Given the description of an element on the screen output the (x, y) to click on. 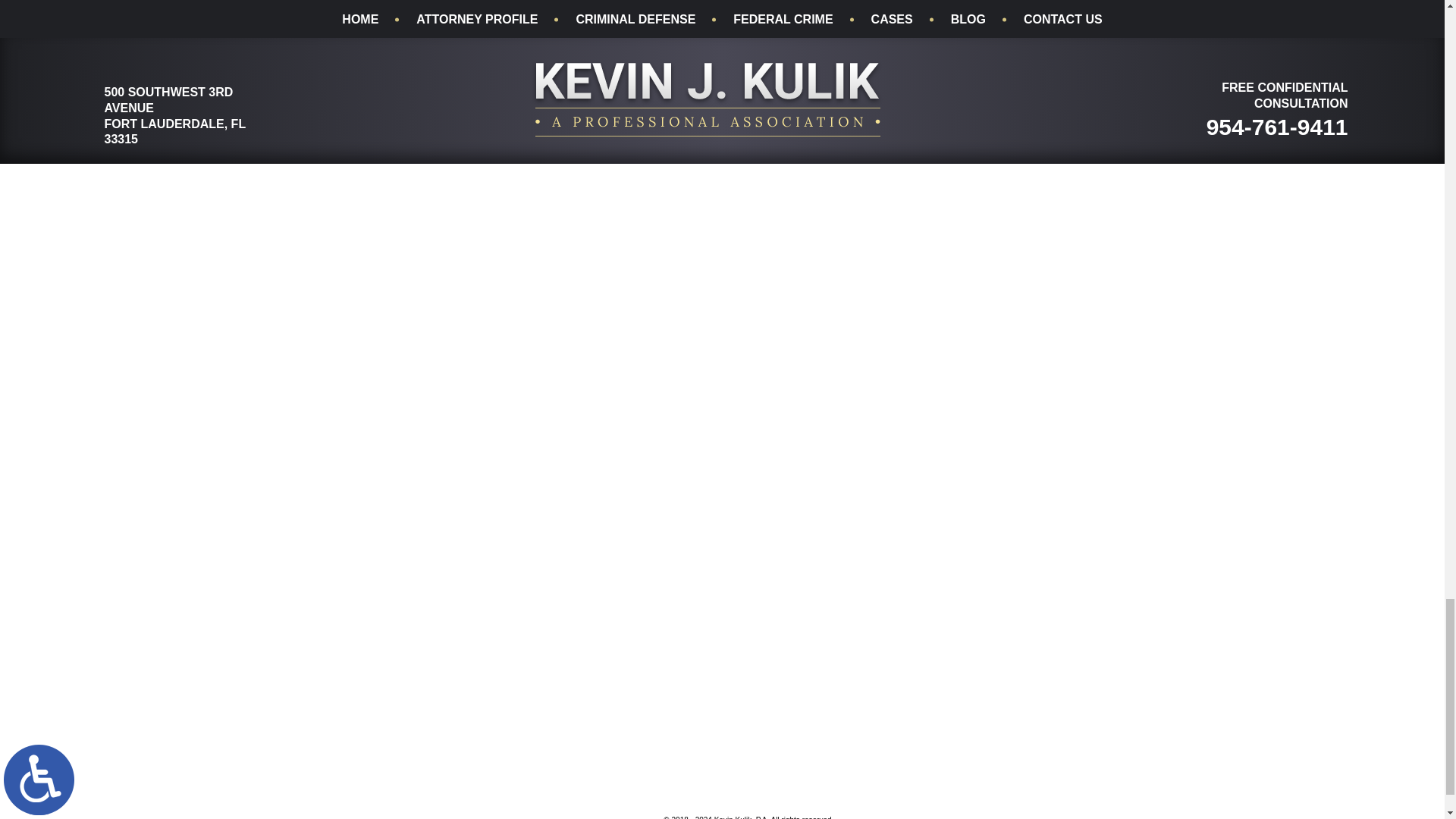
MileMark Media (590, 812)
